Given the description of an element on the screen output the (x, y) to click on. 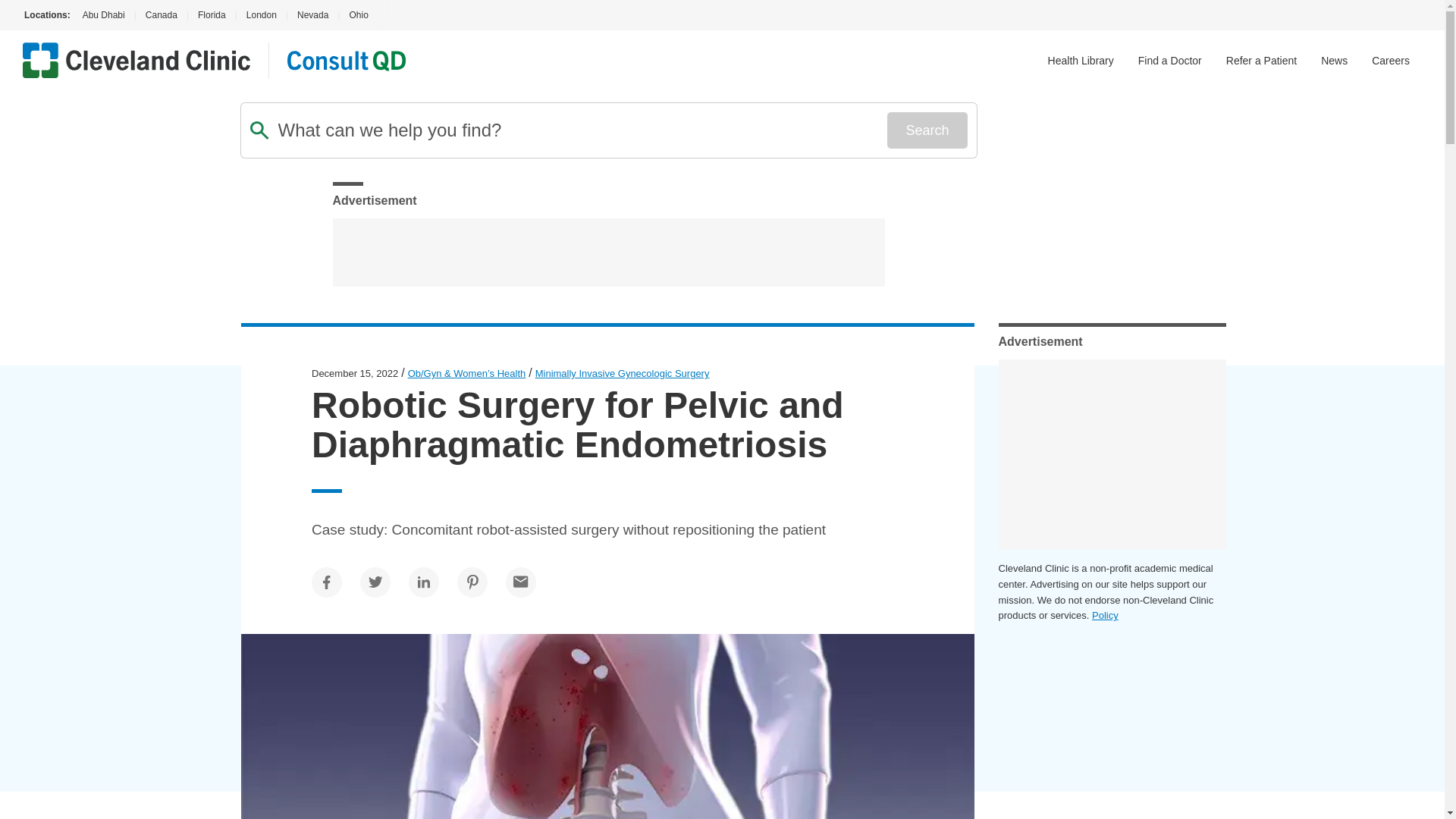
Find a Doctor (1170, 60)
Refer a Patient (1261, 60)
Ohio (358, 15)
Florida (211, 15)
Policy (1105, 614)
Canada (161, 15)
Minimally Invasive Gynecologic Surgery (622, 373)
London (261, 15)
Nevada (312, 15)
Careers (1390, 60)
